Given the description of an element on the screen output the (x, y) to click on. 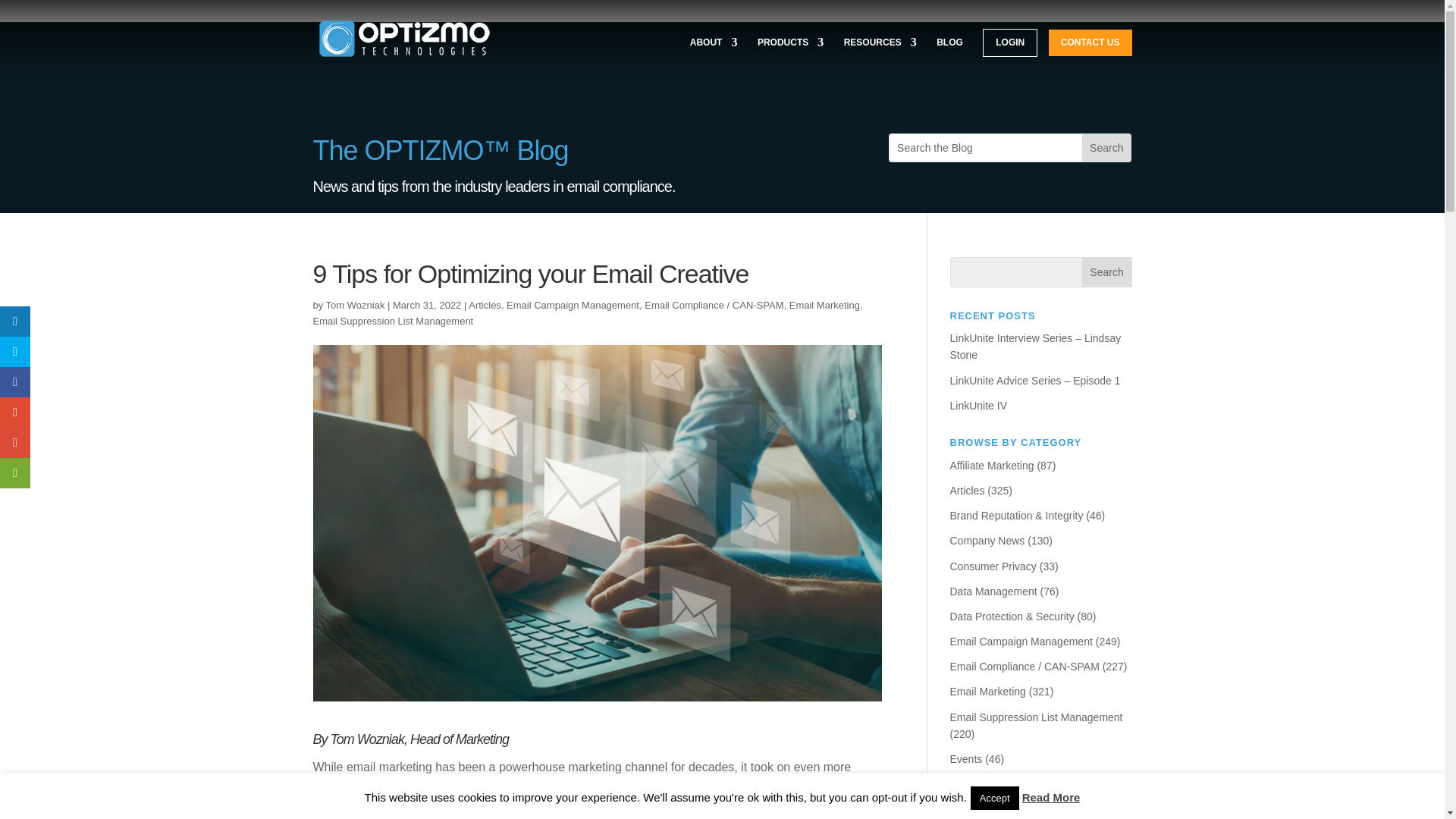
Search (1106, 147)
Posts by Tom Wozniak (355, 305)
PRODUCTS (790, 56)
ABOUT (714, 56)
CONTACT US (1090, 42)
RESOURCES (880, 56)
LOGIN (1009, 42)
Search (1106, 272)
Search (1106, 147)
